Given the description of an element on the screen output the (x, y) to click on. 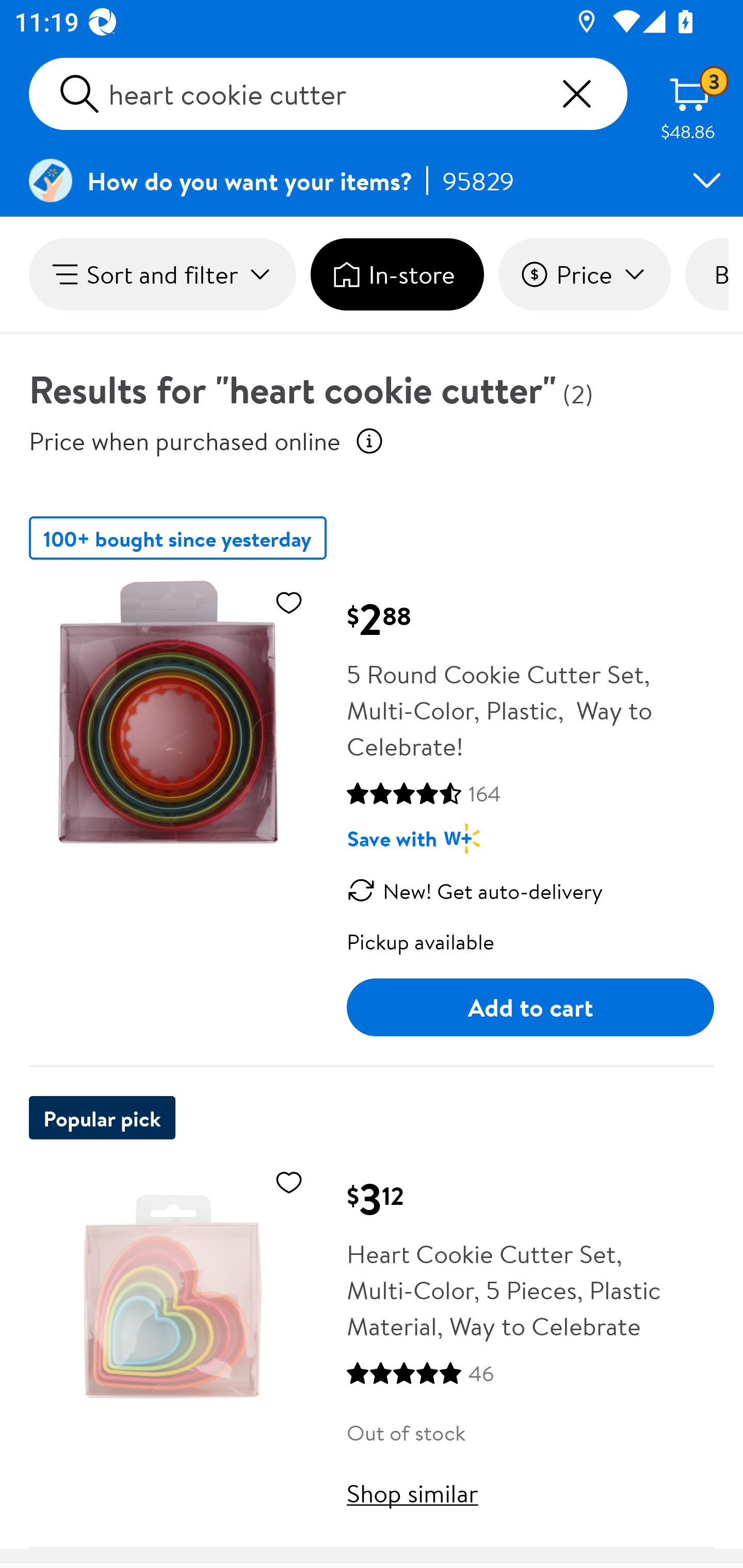
heart cookie cutter Clear Text (327, 94)
Clear Text (576, 94)
Filter by In-store, applied,  Filter icon In-store (396, 274)
Price when purchased online (184, 440)
Price when purchased online (369, 440)
Add to cart (530, 1007)
Shop similar (412, 1492)
